Given the description of an element on the screen output the (x, y) to click on. 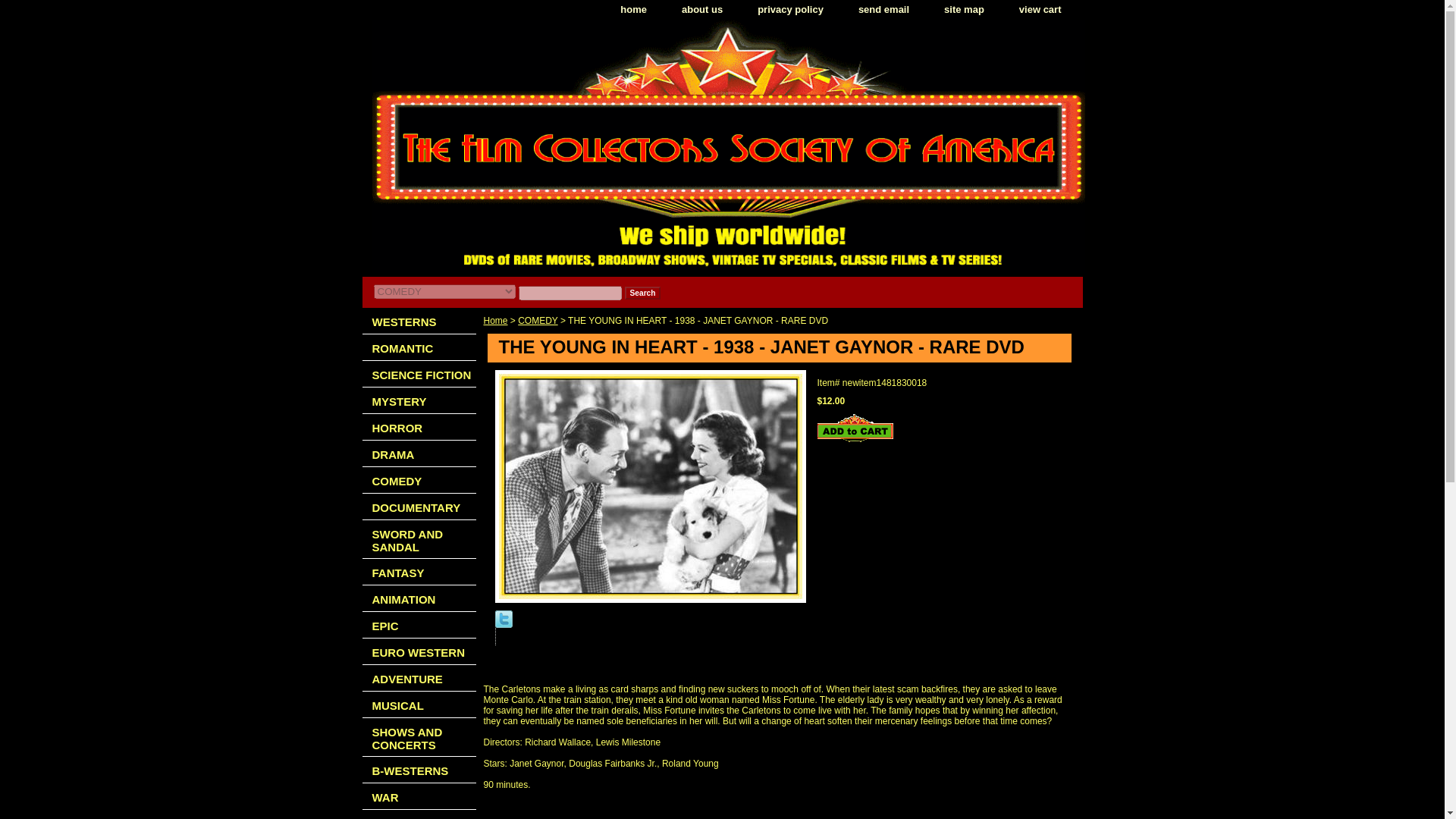
Home (495, 320)
DOCUMENTARY (419, 506)
DRAMA (419, 453)
MYSTERY (419, 400)
ADVENTURE (419, 678)
site map (963, 9)
FANTASY (419, 571)
SHOWS AND CONCERTS (419, 737)
ANIMATION (419, 598)
EPIC (419, 624)
COMEDY (419, 479)
FORGOTTEN MYSTERIES (419, 814)
EURO WESTERN (419, 651)
THE YOUNG IN HEART - 1938 - JANET GAYNOR - RARE DVD (650, 486)
SCIENCE FICTION (419, 374)
